Given the description of an element on the screen output the (x, y) to click on. 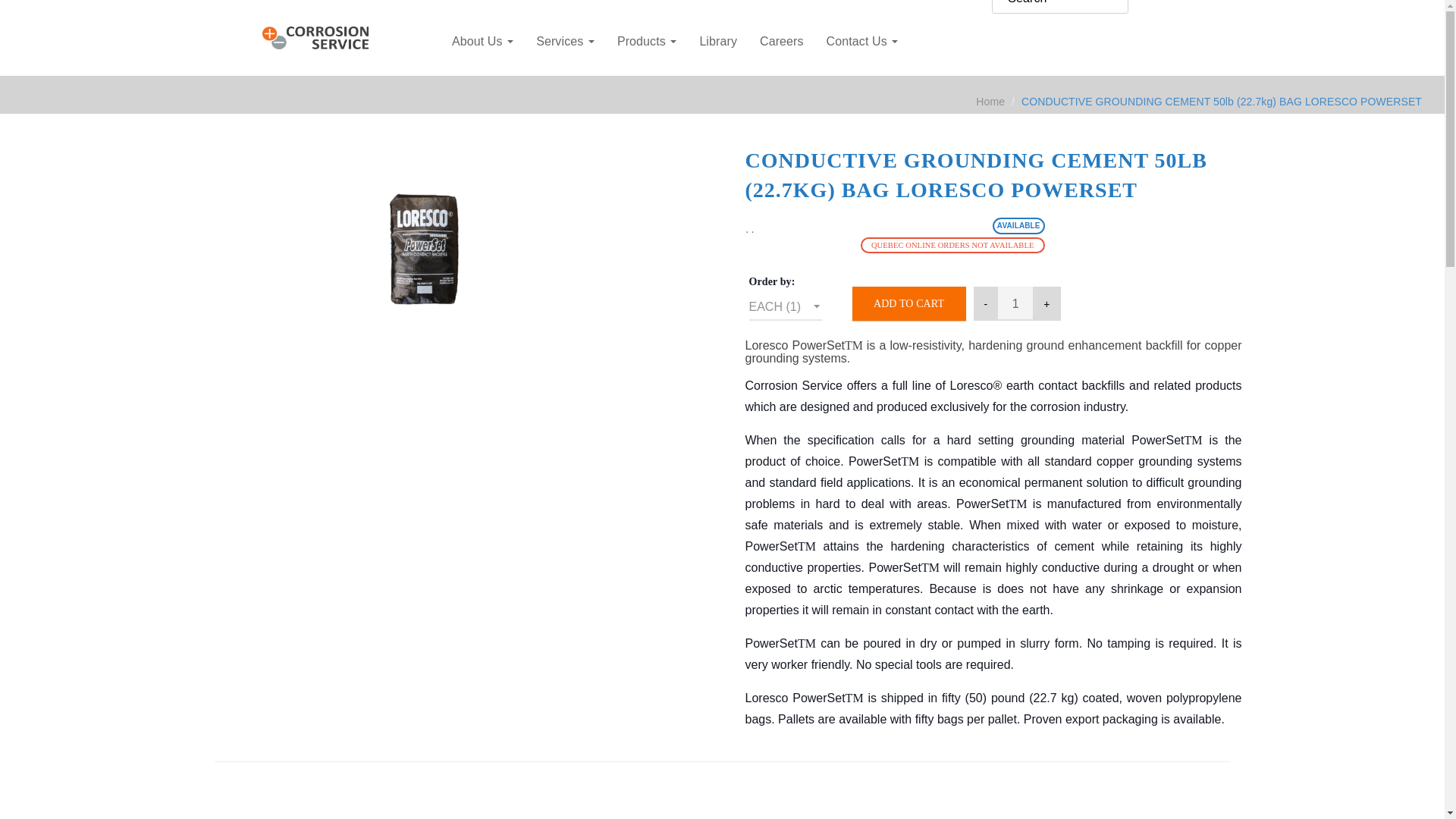
1 (1014, 303)
Contact Us (862, 40)
Services (564, 40)
Products (646, 40)
About Us (482, 40)
Library (717, 40)
Careers (781, 40)
